Given the description of an element on the screen output the (x, y) to click on. 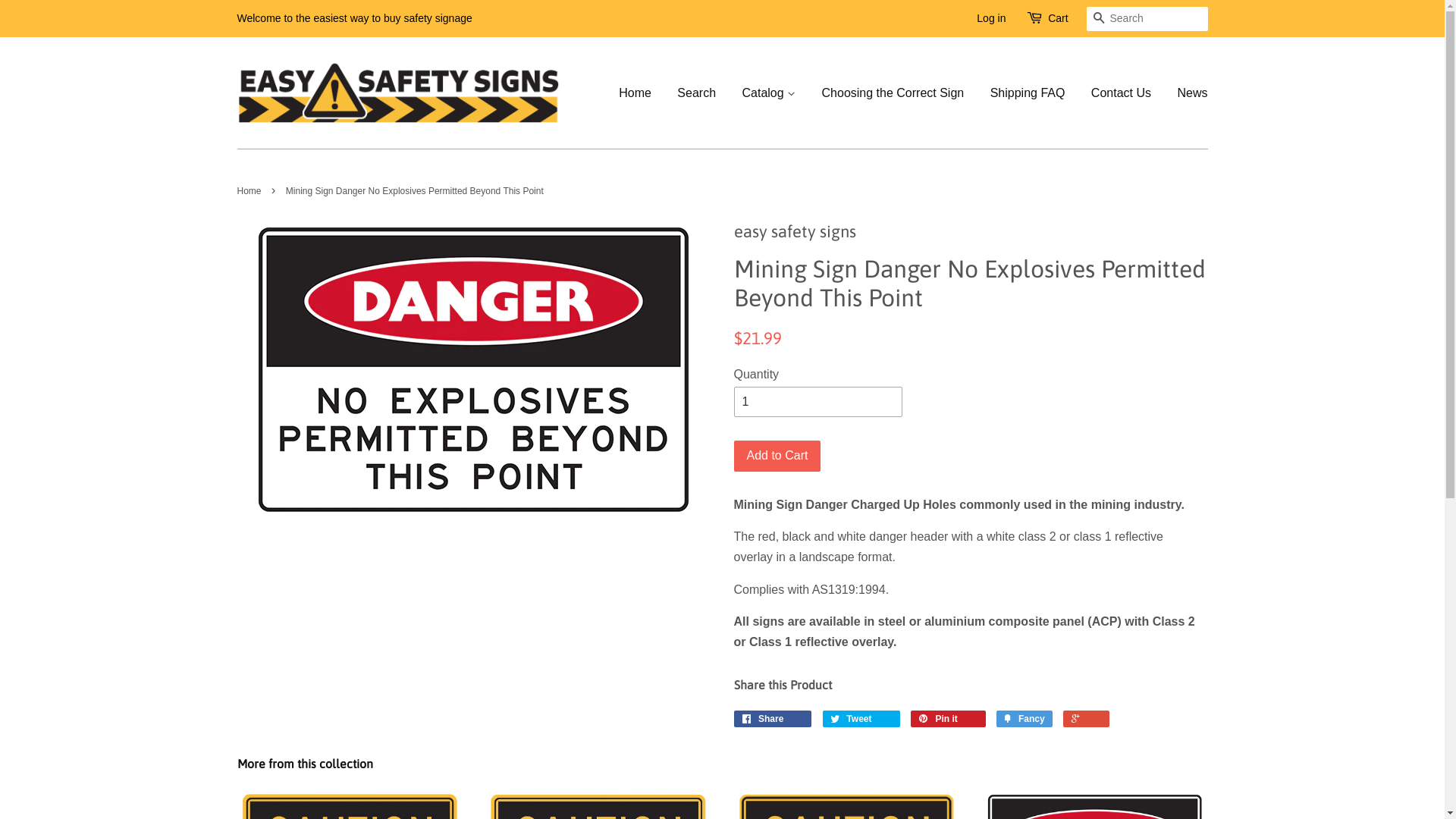
Search Element type: text (1097, 18)
Catalog Element type: text (769, 92)
Shipping FAQ Element type: text (1027, 92)
Choosing the Correct Sign Element type: text (892, 92)
Log in Element type: text (990, 18)
Search Element type: text (696, 92)
Pin it Element type: text (947, 718)
Home Element type: text (250, 190)
Add to Cart Element type: text (777, 455)
Cart Element type: text (1057, 18)
Home Element type: text (640, 92)
News Element type: text (1186, 92)
Share Element type: text (773, 718)
Tweet Element type: text (861, 718)
Fancy Element type: text (1023, 718)
Contact Us Element type: text (1120, 92)
